Given the description of an element on the screen output the (x, y) to click on. 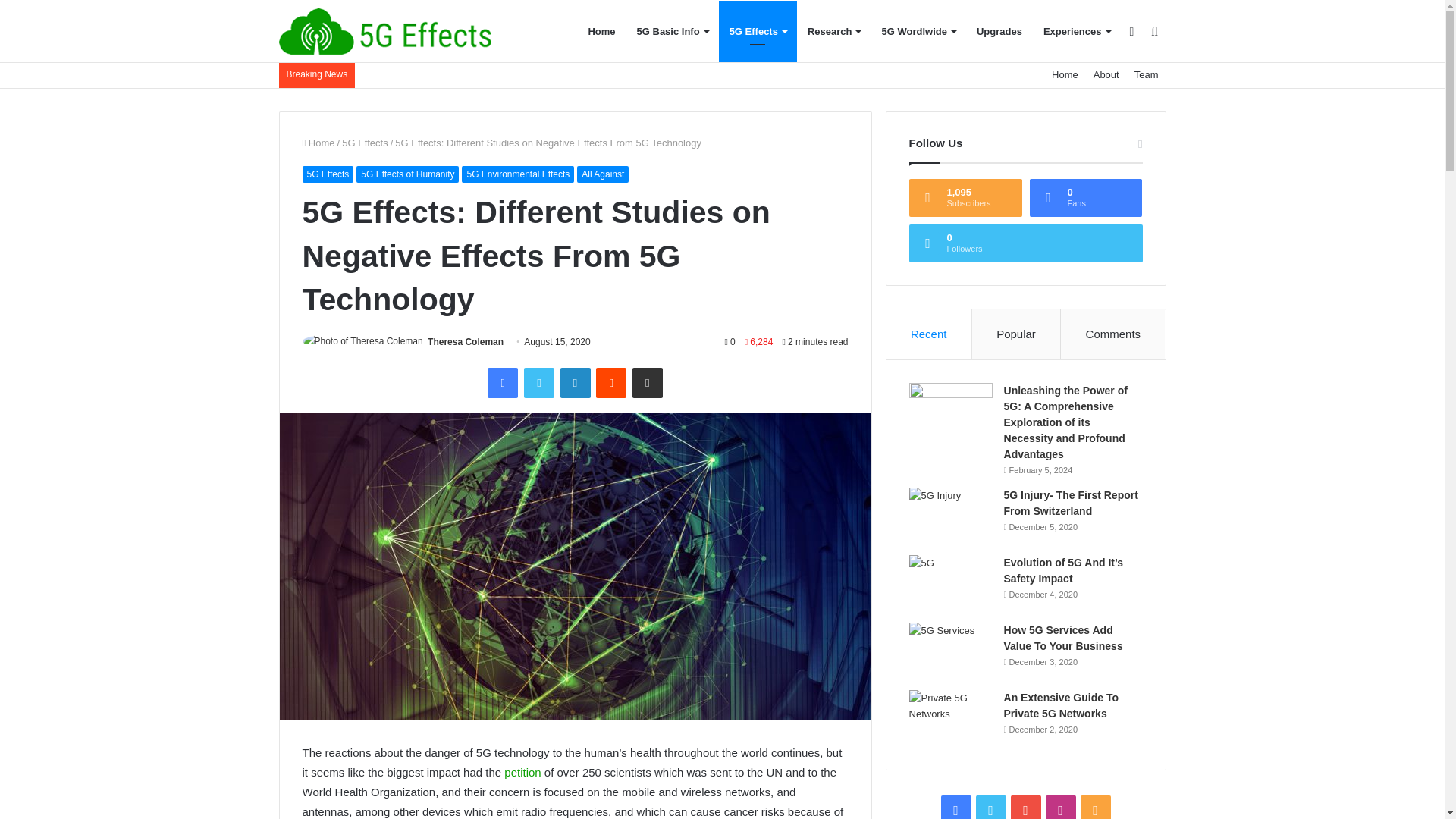
5G Basic Info (672, 31)
5G Effects (757, 31)
LinkedIn (574, 382)
5G Effects (385, 31)
Upgrades (999, 31)
Reddit (610, 382)
5G Wordlwide (917, 31)
Home (1064, 74)
Twitter (539, 382)
Facebook (502, 382)
